Given the description of an element on the screen output the (x, y) to click on. 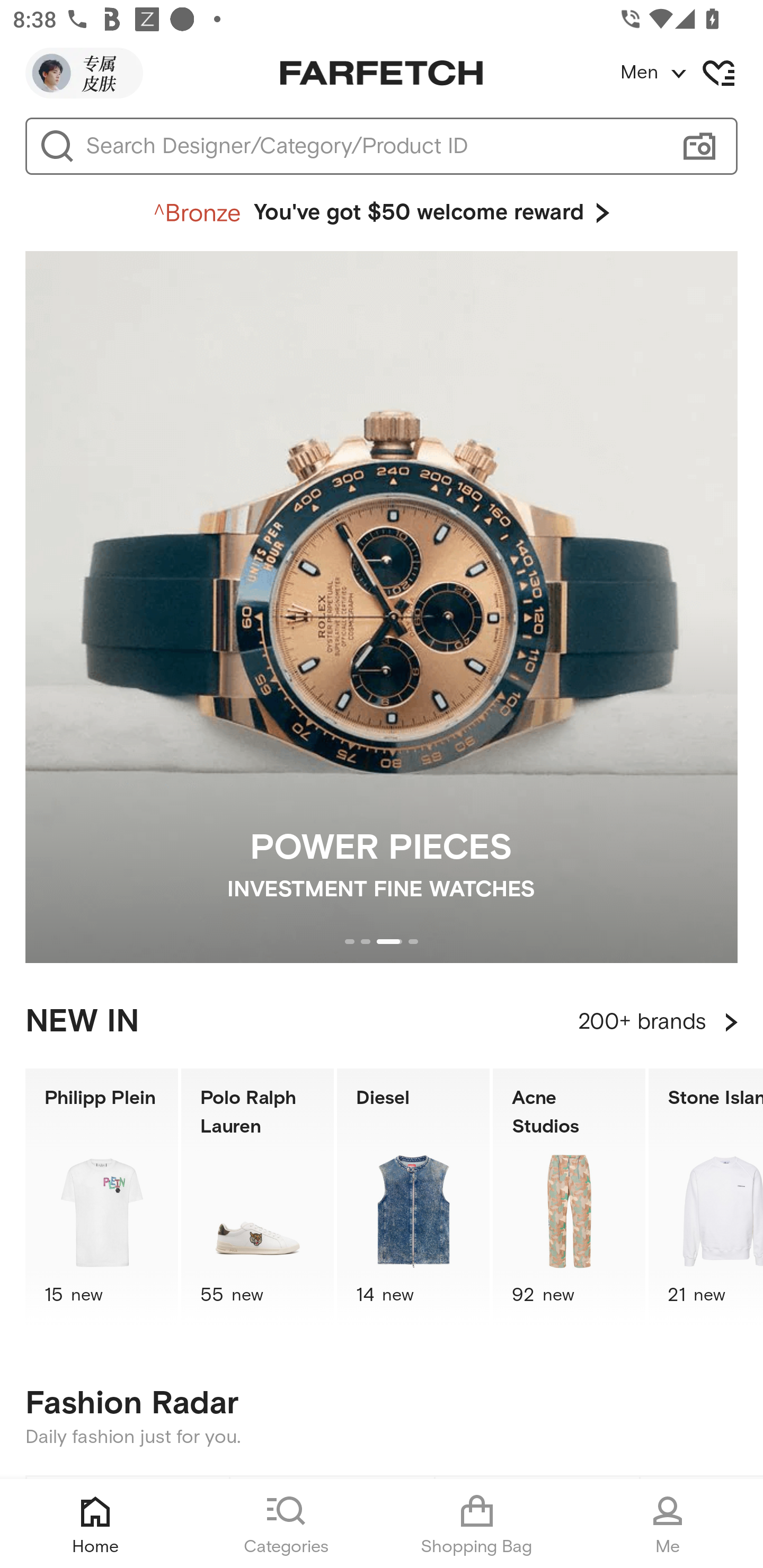
Men (691, 72)
Search Designer/Category/Product ID (373, 146)
You've got $50 welcome reward (381, 213)
NEW IN 200+ brands (381, 1021)
Philipp Plein 15  new (101, 1196)
Polo Ralph Lauren 55  new (257, 1196)
Diesel 14  new (413, 1196)
Acne Studios 92  new (568, 1196)
Stone Island 21  new (705, 1196)
Categories (285, 1523)
Shopping Bag (476, 1523)
Me (667, 1523)
